Given the description of an element on the screen output the (x, y) to click on. 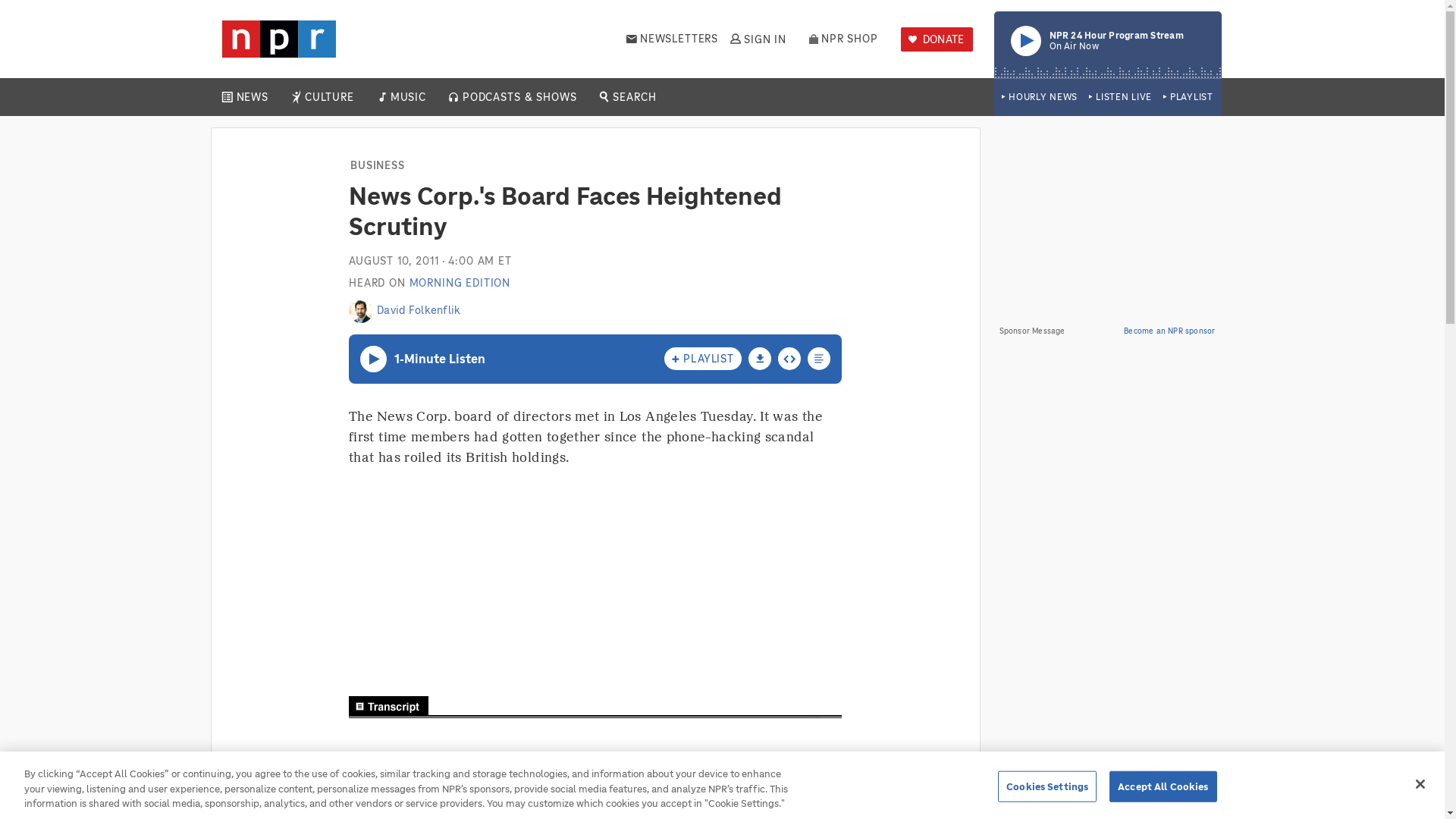
NPR SHOP (843, 38)
DONATE (936, 39)
SIGN IN (1106, 44)
NEWS (757, 38)
MUSIC (251, 96)
NEWSLETTERS (407, 96)
LISTEN LIVE (671, 38)
HOURLY NEWS (1120, 97)
CULTURE (1039, 97)
PLAYLIST (328, 96)
